Given the description of an element on the screen output the (x, y) to click on. 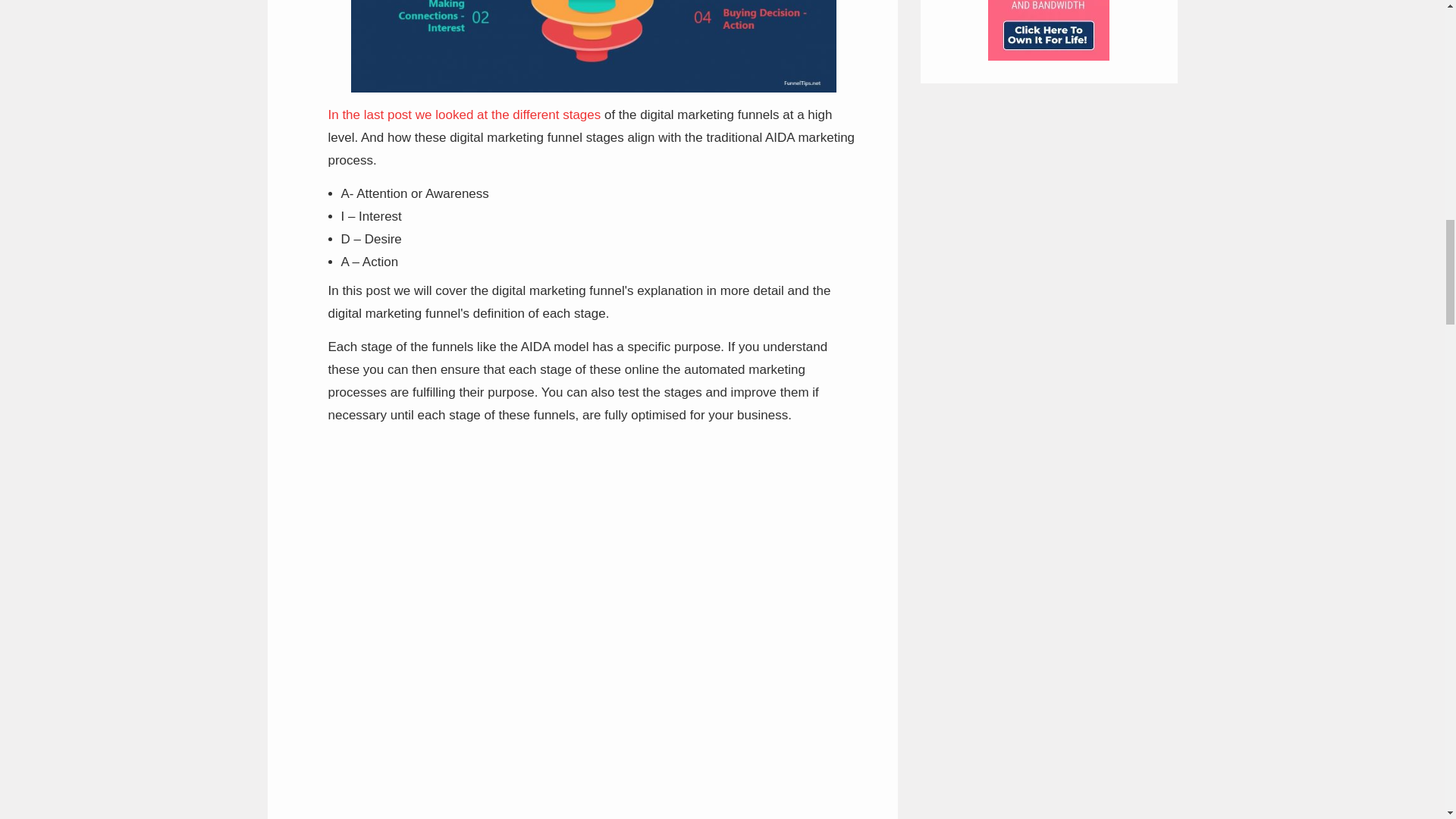
In the last post we looked at the different stages (463, 114)
